Given the description of an element on the screen output the (x, y) to click on. 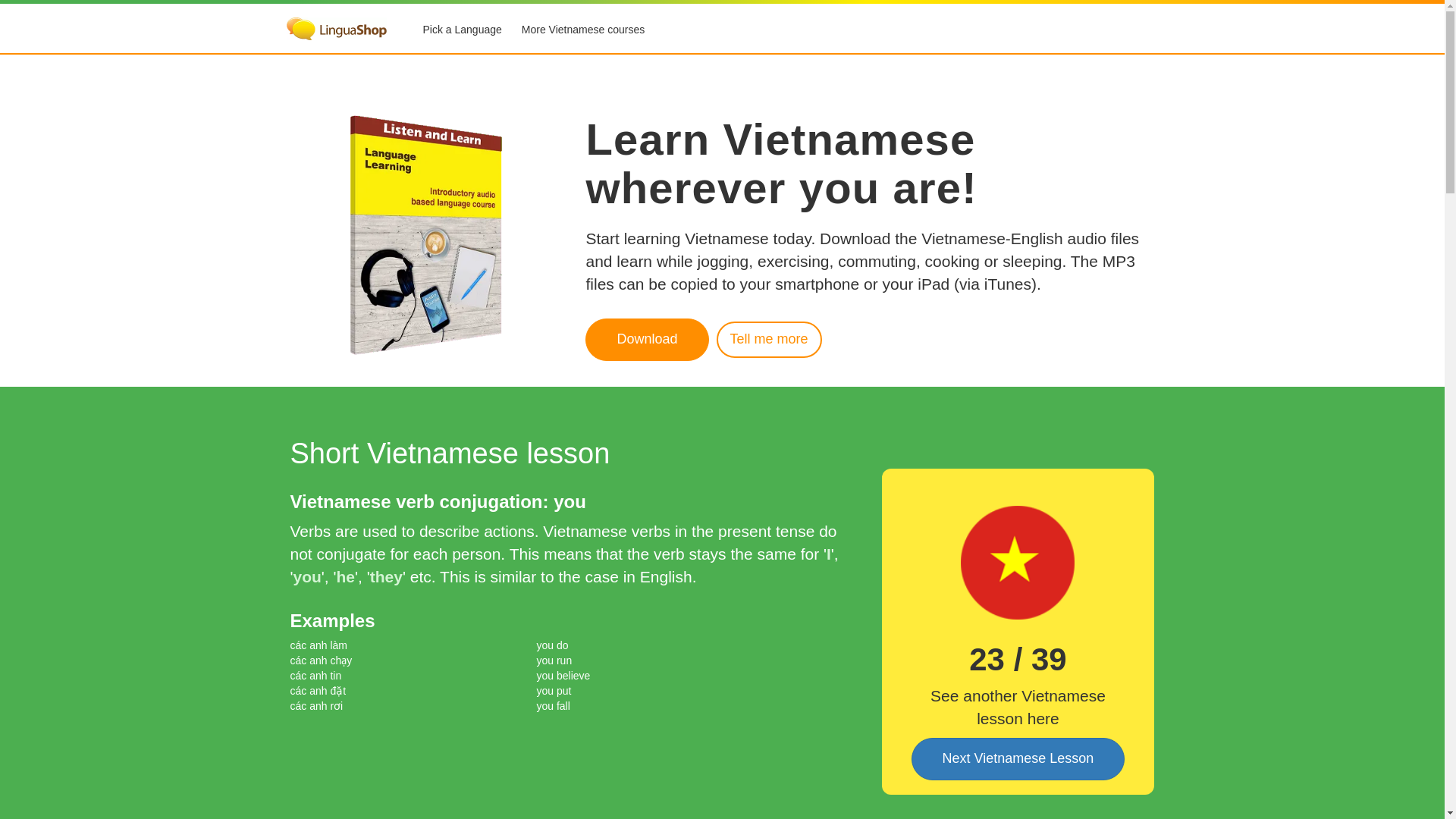
Free Vietnamese lesson (1017, 562)
More Vietnamese courses (582, 30)
Next Vietnamese Lesson (1018, 758)
Home (336, 30)
Vietnamese MP3 download - Listen and Learn Vietnamese (769, 339)
Tell me more (769, 339)
Vietnamese MP3 download - Listen and Learn Vietnamese (646, 339)
Download (646, 339)
Vietnamese courses (582, 30)
Free Vietnamese lesson (1018, 758)
